Given the description of an element on the screen output the (x, y) to click on. 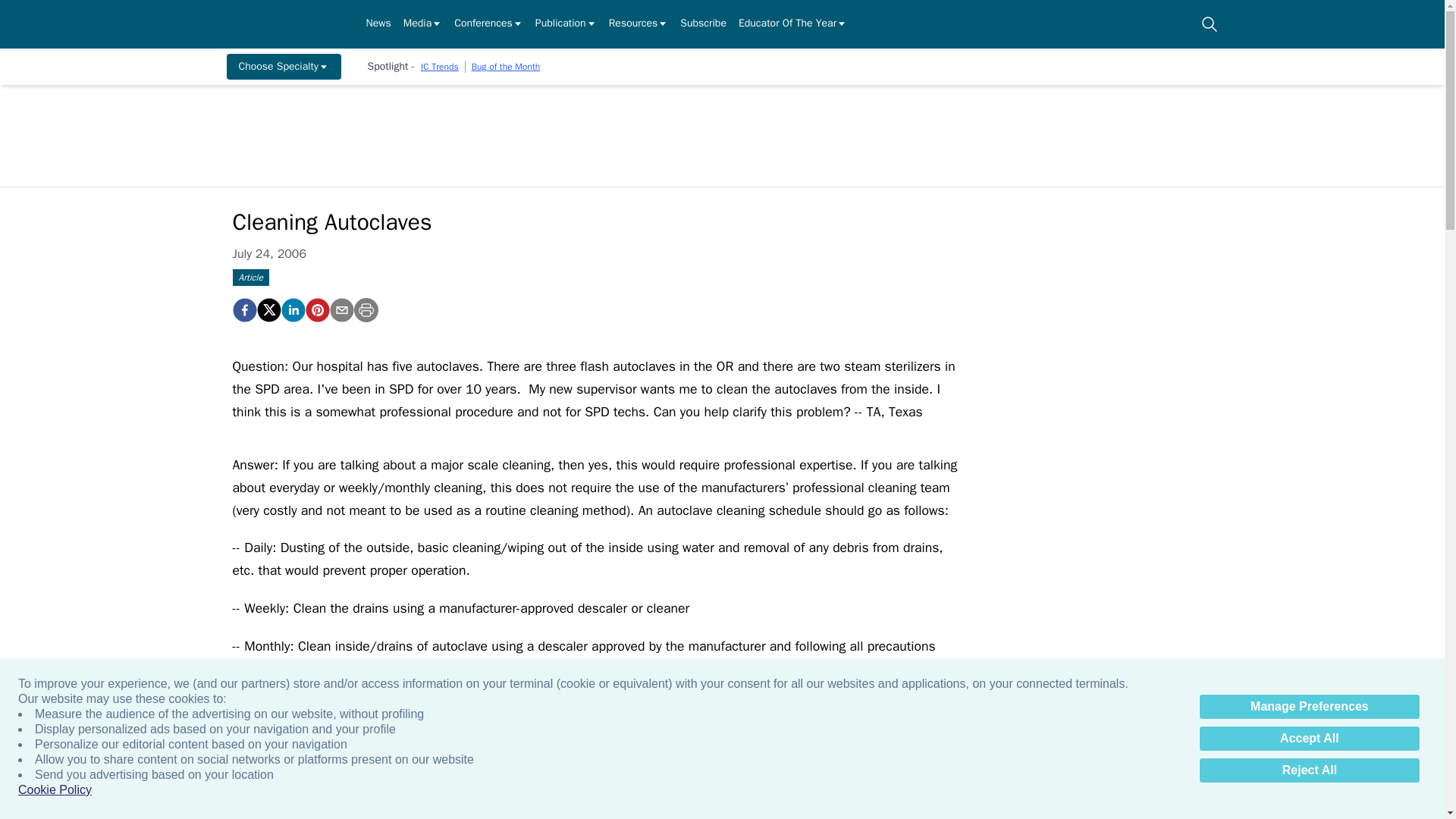
Publication (565, 23)
Conferences (488, 23)
Manage Preferences (1309, 706)
Reject All (1309, 769)
Cleaning Autoclaves (316, 310)
Cleaning Autoclaves (243, 310)
Cookie Policy (54, 789)
Resources (638, 23)
Accept All (1309, 738)
News (377, 23)
